Given the description of an element on the screen output the (x, y) to click on. 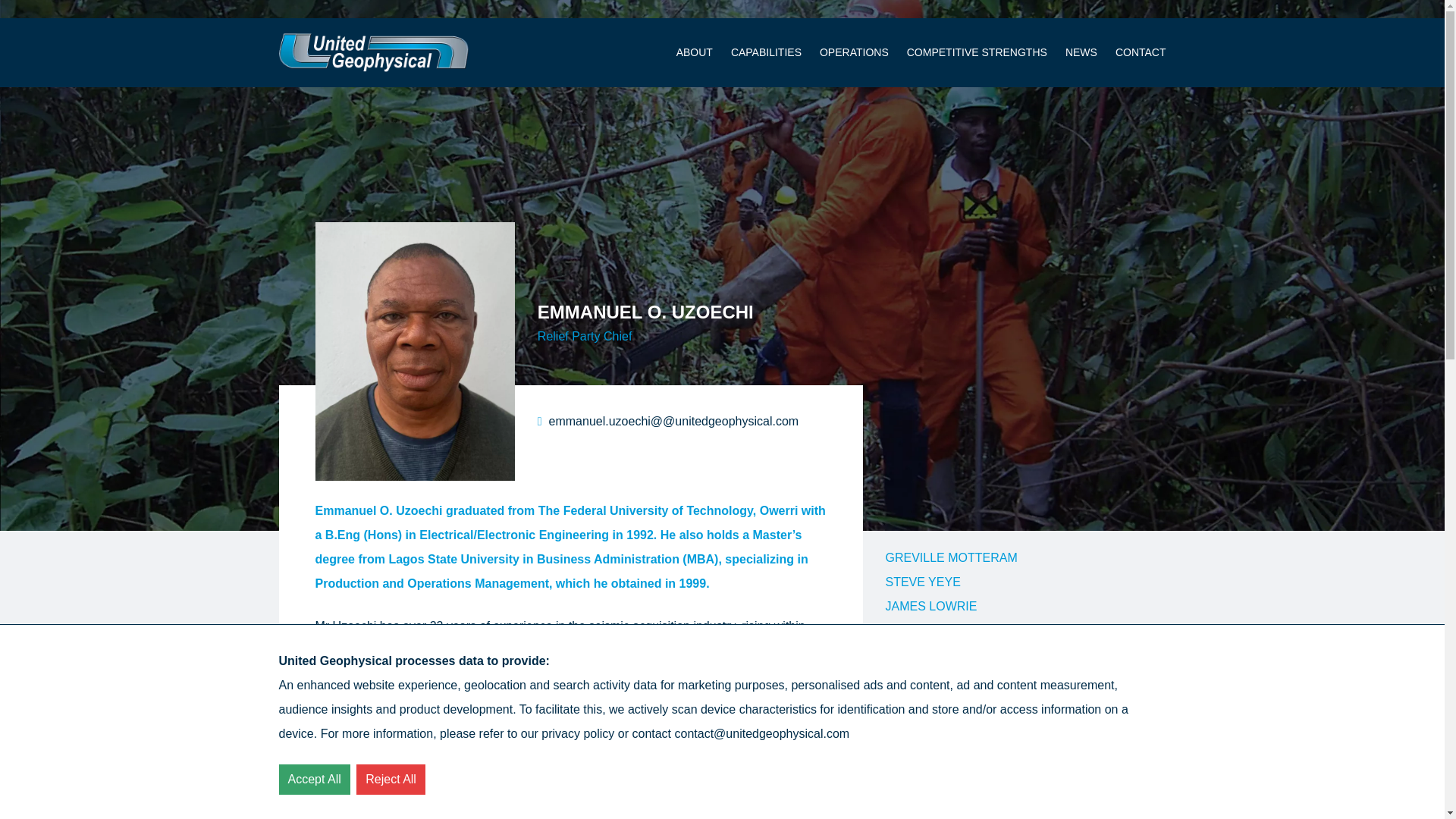
EMEKA NWAGWU (936, 727)
JULIUS ONIKUTE (935, 654)
COMPETITIVE STRENGTHS (976, 51)
JUDE EZECHUKWU (941, 630)
CONTACT (1140, 51)
NEWS (1081, 51)
TAYO ODUMOSU (934, 775)
ABOUT (695, 51)
EUGENE CHIBUIKEM (946, 799)
JAMES LOWRIE (930, 605)
BARRISTER LUCY ONYENWE (971, 751)
RICHARD KENDELL (941, 703)
CAPABILITIES (766, 51)
STEVE YEYE (922, 581)
GREVILLE MOTTERAM (951, 557)
